Given the description of an element on the screen output the (x, y) to click on. 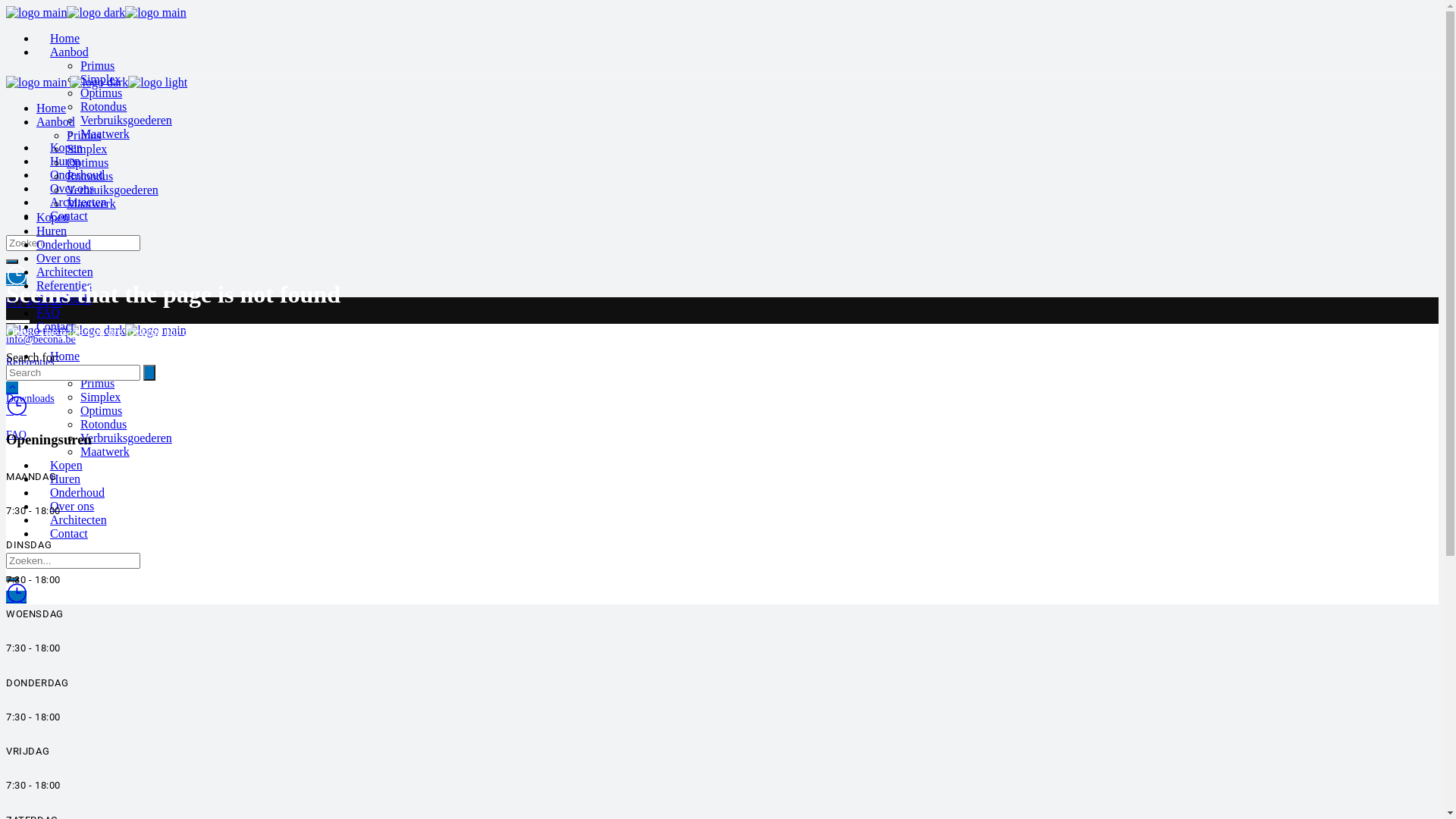
FAQ Element type: text (16, 434)
FAQ Element type: text (47, 312)
Rotondus Element type: text (89, 175)
Over ons Element type: text (58, 257)
Contact Element type: text (68, 533)
Simplex Element type: text (100, 396)
Downloads Element type: text (63, 298)
Simplex Element type: text (100, 78)
Home Element type: text (64, 37)
Architecten Element type: text (64, 271)
Contact Element type: text (55, 326)
Over ons Element type: text (72, 188)
Over ons Element type: text (72, 505)
info@becona.be Element type: text (40, 339)
013 46 01 60 Element type: text (34, 302)
Home Element type: text (64, 355)
Kopen Element type: text (52, 216)
Optimus Element type: text (101, 410)
Onderhoud Element type: text (77, 174)
Aanbod Element type: text (69, 51)
Maatwerk Element type: text (91, 203)
Primus Element type: text (97, 382)
Downloads Element type: text (30, 398)
Simplex Element type: text (86, 148)
Architecten Element type: text (78, 519)
Huren Element type: text (65, 160)
Maatwerk Element type: text (104, 133)
Verbruiksgoederen Element type: text (126, 437)
Rotondus Element type: text (103, 106)
Kopen Element type: text (66, 464)
Home Element type: text (50, 107)
Maatwerk Element type: text (104, 451)
Primus Element type: text (97, 65)
Huren Element type: text (51, 230)
Aanbod Element type: text (69, 369)
Aanbod Element type: text (55, 121)
Verbruiksgoederen Element type: text (112, 189)
Onderhoud Element type: text (63, 244)
Contact Element type: text (68, 215)
Huren Element type: text (65, 478)
Architecten Element type: text (78, 201)
Referenties Element type: text (63, 285)
Onderhoud Element type: text (77, 492)
Optimus Element type: text (87, 162)
Primus Element type: text (83, 134)
Optimus Element type: text (101, 92)
Rotondus Element type: text (103, 423)
Referenties Element type: text (30, 361)
Kopen Element type: text (66, 147)
Verbruiksgoederen Element type: text (126, 119)
